Given the description of an element on the screen output the (x, y) to click on. 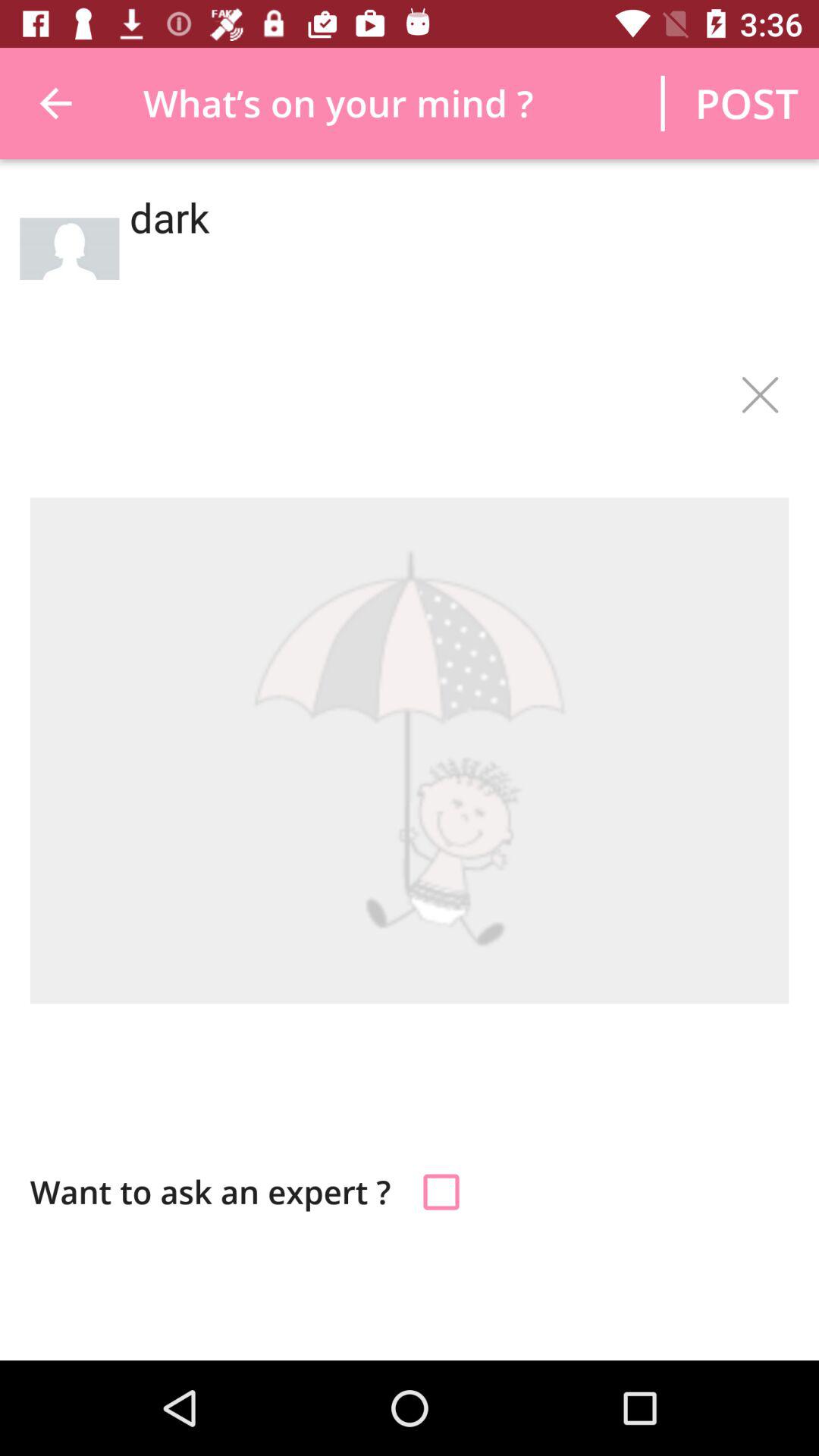
swipe to dark item (454, 265)
